Given the description of an element on the screen output the (x, y) to click on. 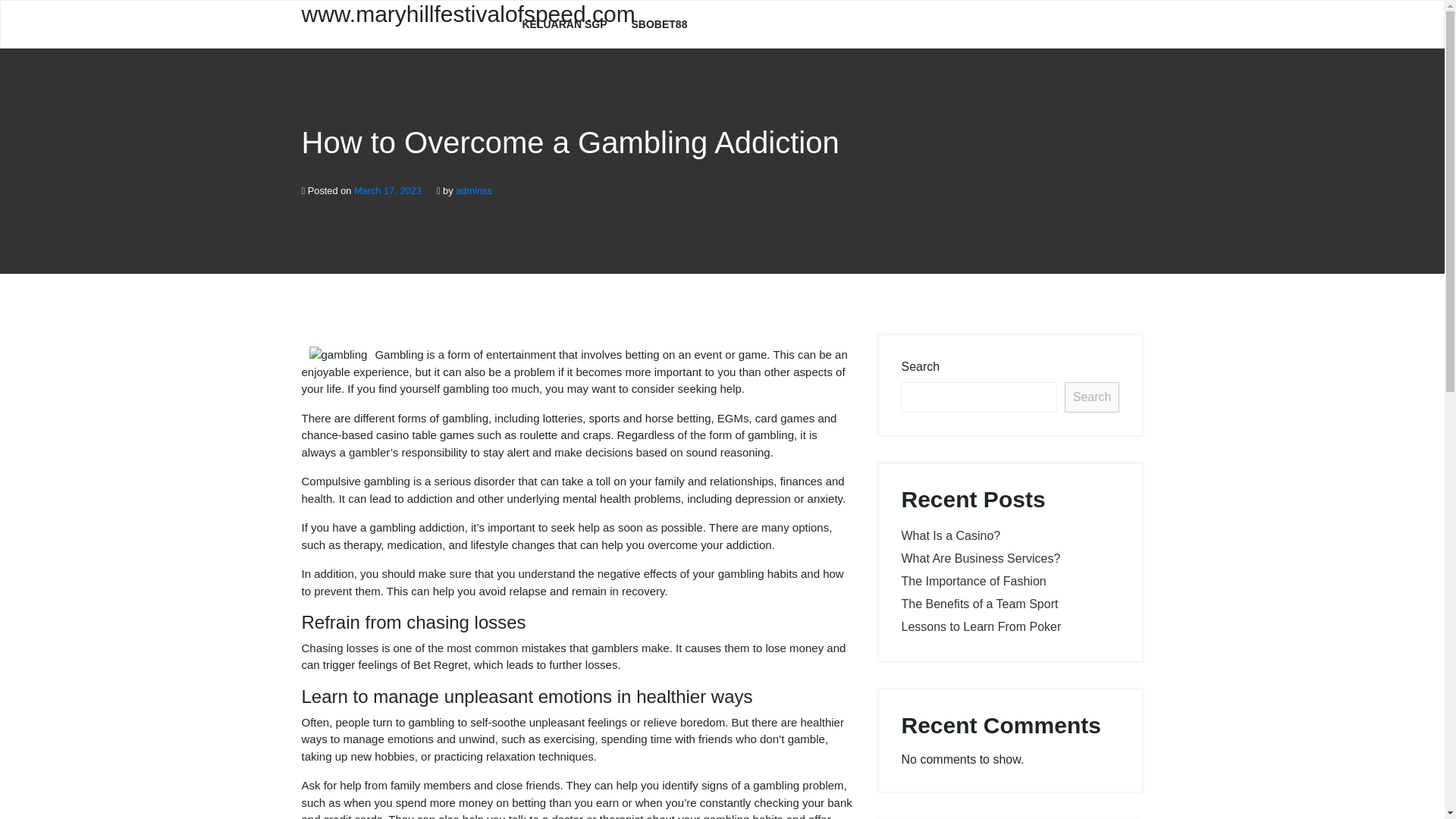
Lessons to Learn From Poker (981, 626)
SBOBET88 (660, 23)
KELUARAN SGP (563, 23)
What Are Business Services? (980, 558)
keluaran sgp (563, 23)
SBOBET88 (660, 23)
www.maryhillfestivalofspeed.com (400, 22)
The Benefits of a Team Sport (979, 603)
adminss (473, 190)
March 17, 2023 (387, 190)
The Importance of Fashion (973, 581)
What Is a Casino? (950, 535)
Search (1091, 397)
